Given the description of an element on the screen output the (x, y) to click on. 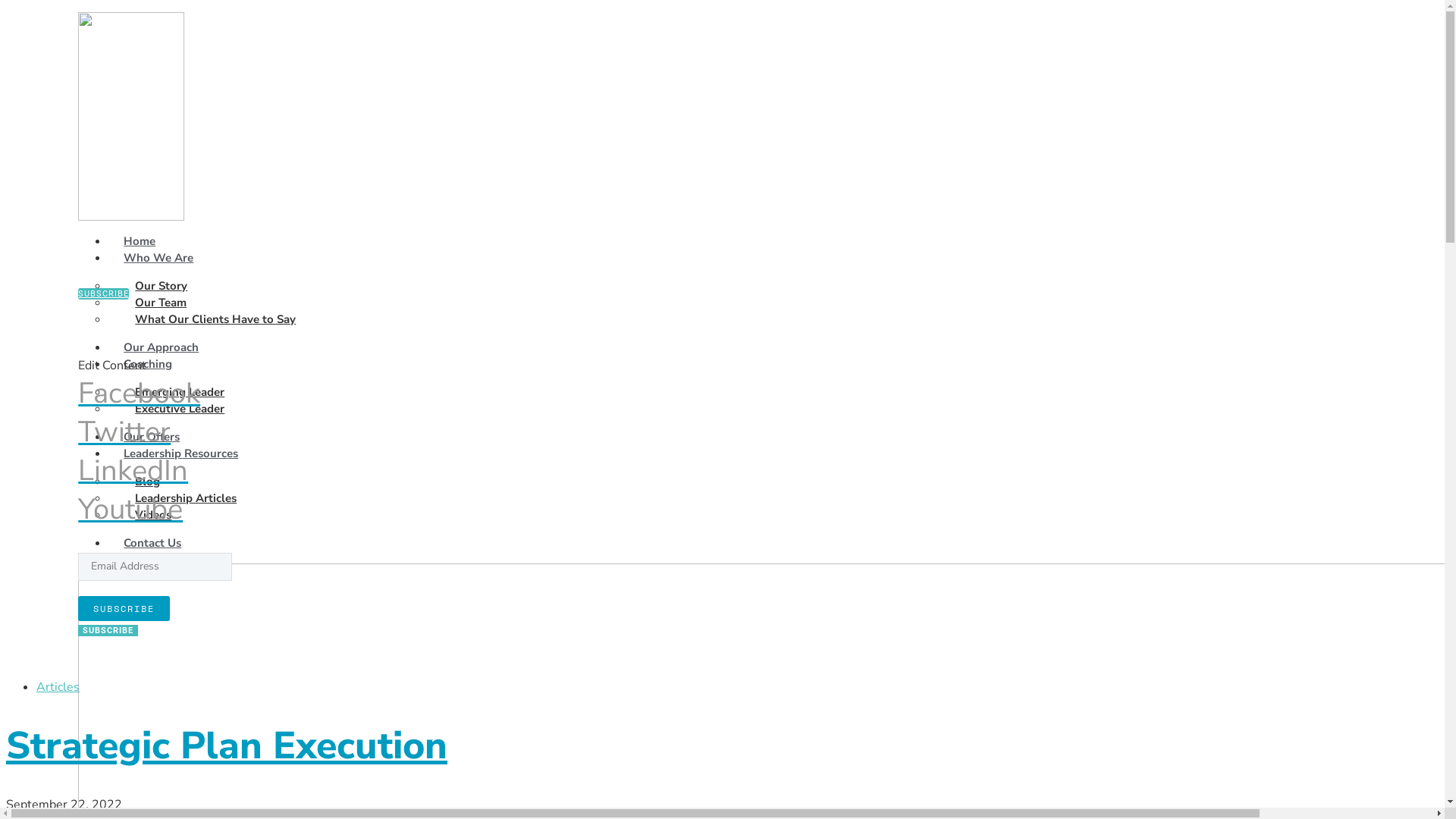
SUBSCRIBE Element type: text (103, 293)
What Our Clients Have to Say Element type: text (215, 319)
Executive Leader Element type: text (179, 408)
Our Offers Element type: text (151, 436)
Our Approach Element type: text (160, 346)
Articles Element type: text (57, 686)
LinkedIn Element type: text (446, 470)
Contact Us Element type: text (152, 542)
Twitter Element type: text (446, 431)
Facebook Element type: text (446, 392)
Who We Are Element type: text (161, 257)
Youtube Element type: text (446, 508)
Strategic Plan Execution Element type: text (226, 745)
Our Story Element type: text (160, 285)
Blog Element type: text (147, 481)
Our Team Element type: text (160, 302)
Leadership Articles Element type: text (185, 498)
Leadership Resources Element type: text (183, 453)
Videos Element type: text (152, 514)
SUBSCRIBE Element type: text (108, 630)
Emerging Leader Element type: text (179, 391)
Home Element type: text (139, 240)
Coaching Element type: text (150, 363)
SUBSCRIBE Element type: text (123, 608)
